Given the description of an element on the screen output the (x, y) to click on. 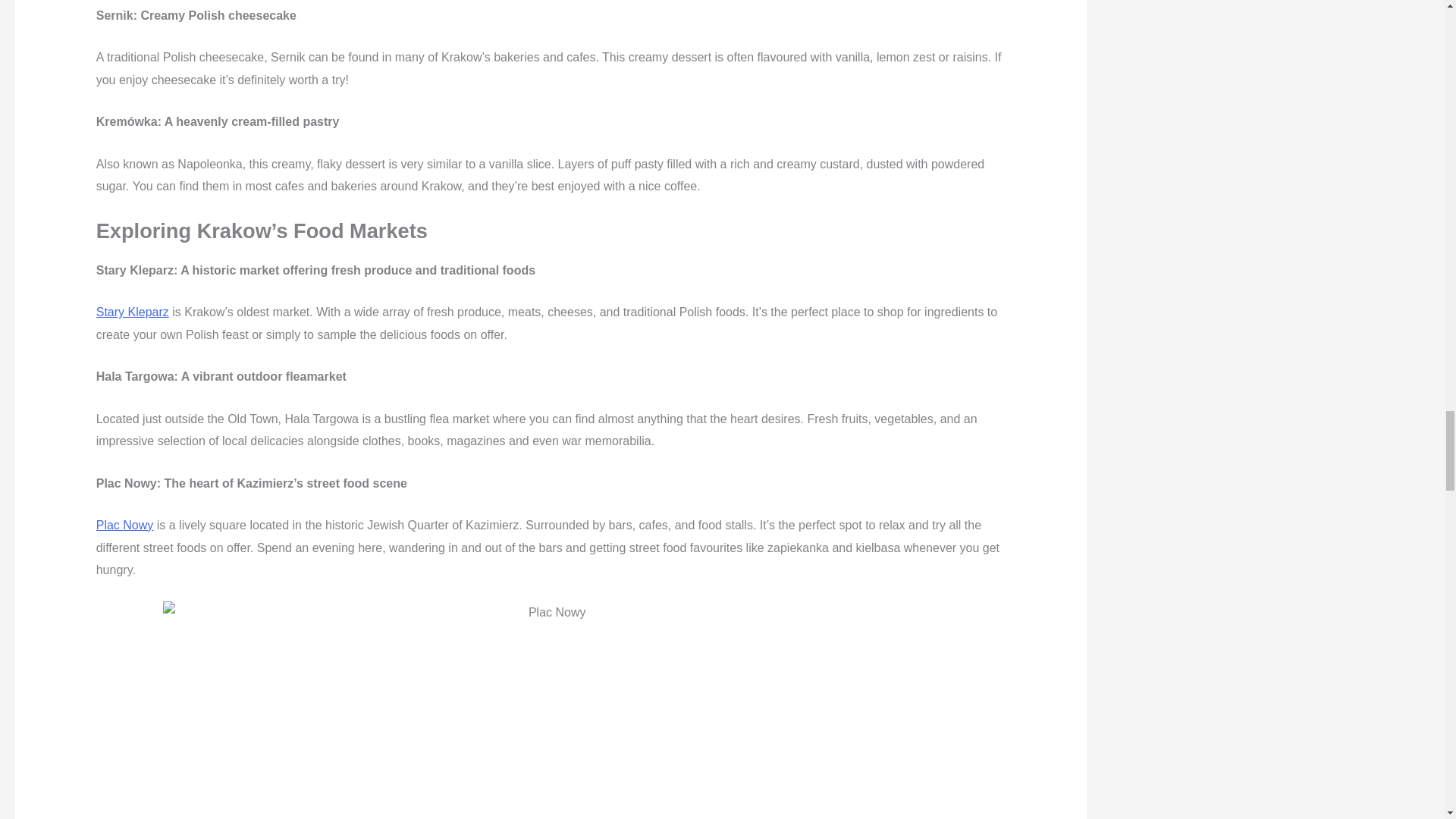
Plac Nowy (125, 524)
Stary Kleparz (132, 311)
